Given the description of an element on the screen output the (x, y) to click on. 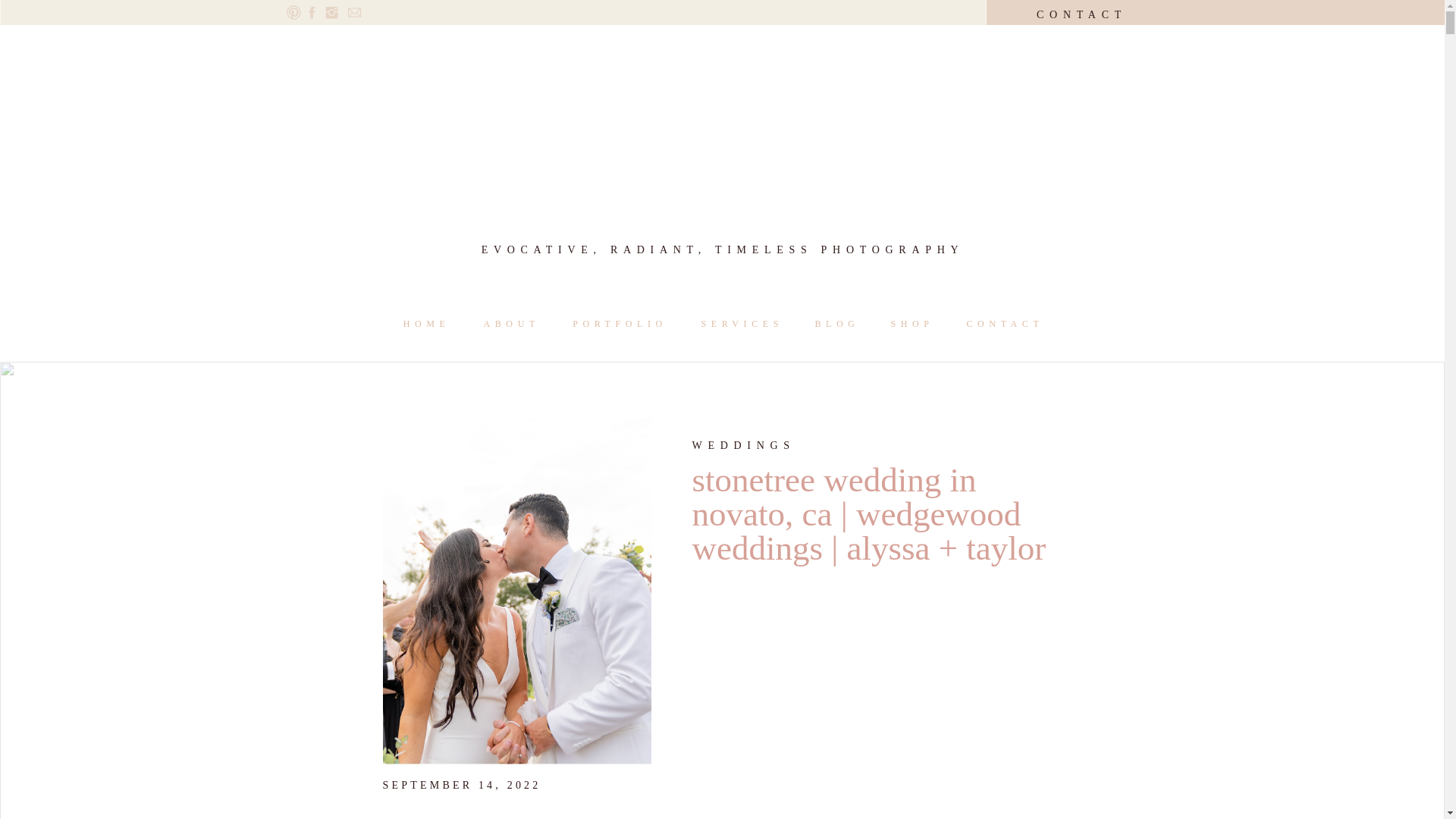
CONTACT (1080, 16)
ABOUT (511, 322)
SHOP (911, 323)
WEDDINGS (742, 445)
HOME (426, 322)
CONTACT (1004, 323)
PORTFOLIO (619, 323)
BLOG (835, 322)
SERVICES (740, 324)
